Given the description of an element on the screen output the (x, y) to click on. 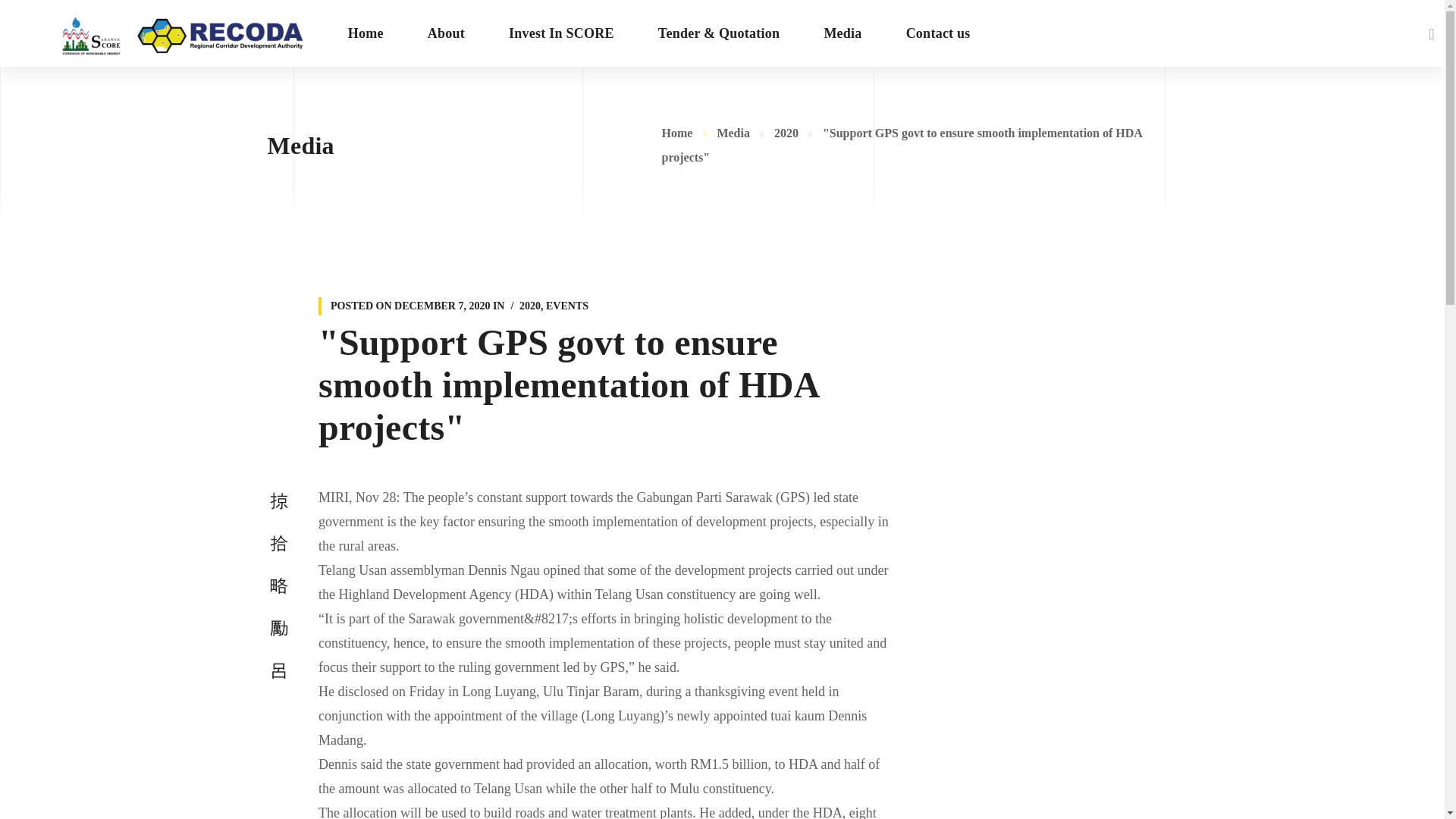
Home (365, 33)
RECODA (183, 33)
Media (842, 33)
Share on Pinterest (278, 585)
Invest In SCORE (560, 33)
Share on Facebook (278, 500)
Share on LinkedIn (278, 627)
Tweet this! (278, 542)
About (446, 33)
